Given the description of an element on the screen output the (x, y) to click on. 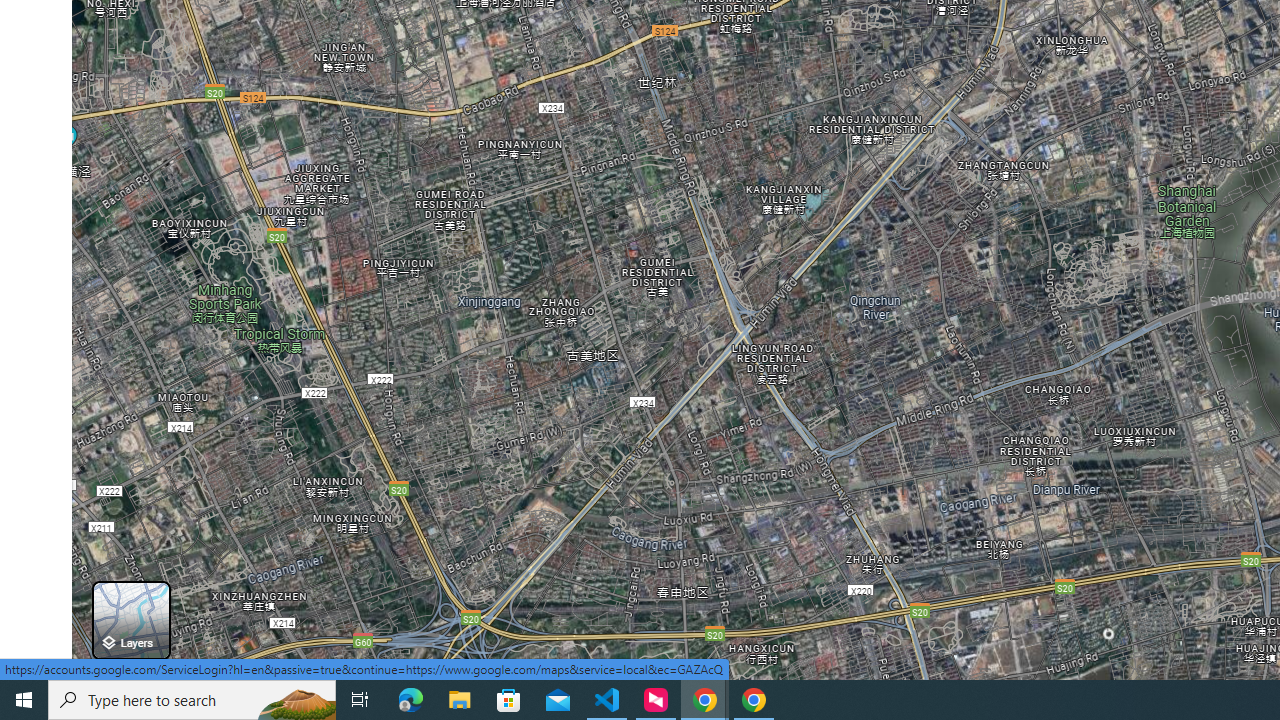
Layers (130, 620)
